Given the description of an element on the screen output the (x, y) to click on. 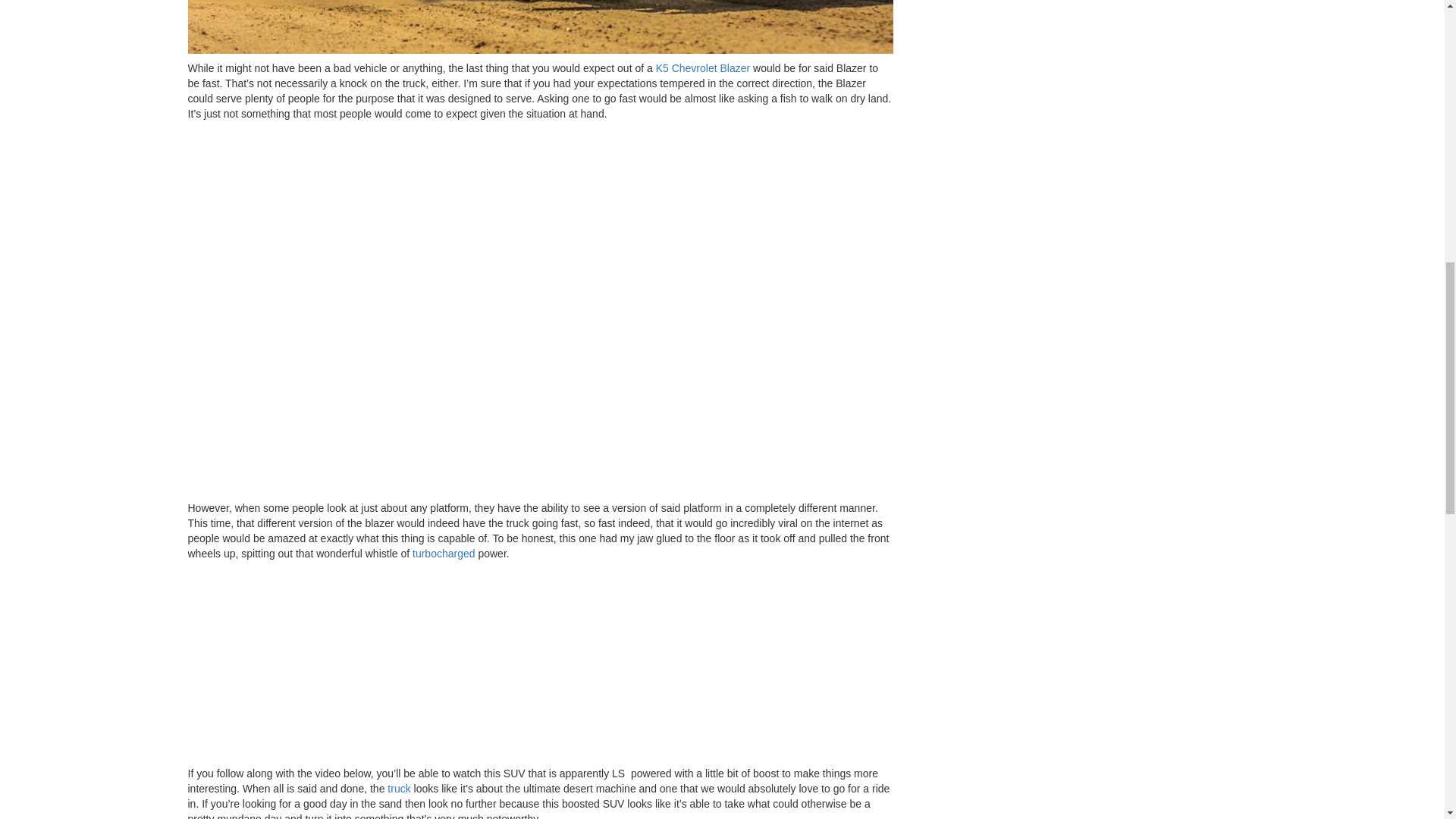
truck (398, 788)
K5 Chevrolet Blazer (703, 68)
wheel-k5 - Speed Society (540, 27)
turbocharged (444, 553)
